Given the description of an element on the screen output the (x, y) to click on. 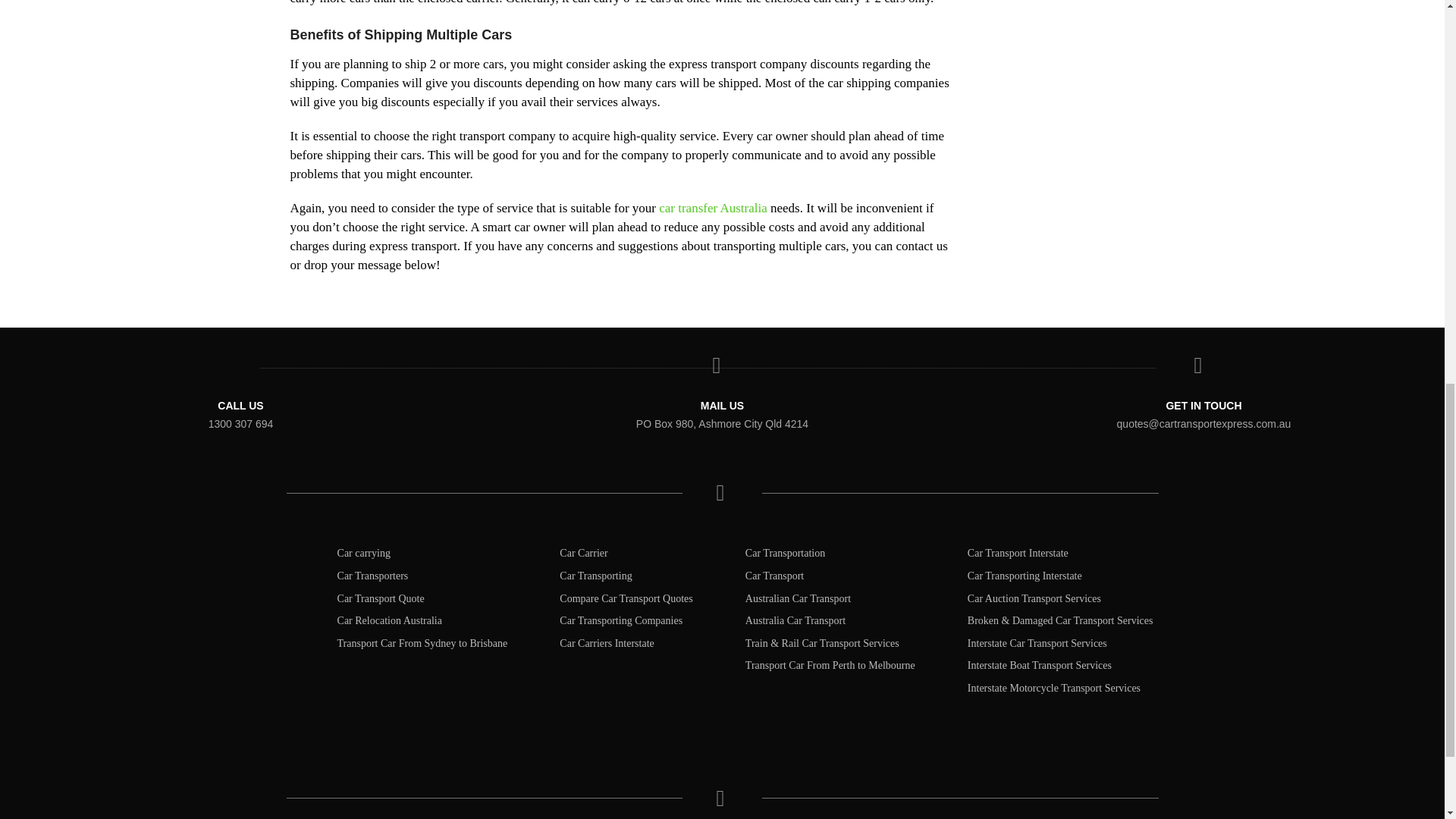
Car Transport (774, 575)
Car Carrier (583, 552)
Australian Car Transport (797, 598)
Compare Car Transport Quotes (626, 598)
Car Transportation (785, 552)
Car Transport Quote (381, 598)
Car Transport Interstate (1018, 552)
Australia Car Transport (795, 620)
Car Transporters (373, 575)
Transport Car From Perth to Melbourne (830, 665)
Car Transporting (595, 575)
car transfer Australia (713, 207)
Car carrying (363, 552)
Car Carriers Interstate (606, 643)
Car Transporting Companies (620, 620)
